Given the description of an element on the screen output the (x, y) to click on. 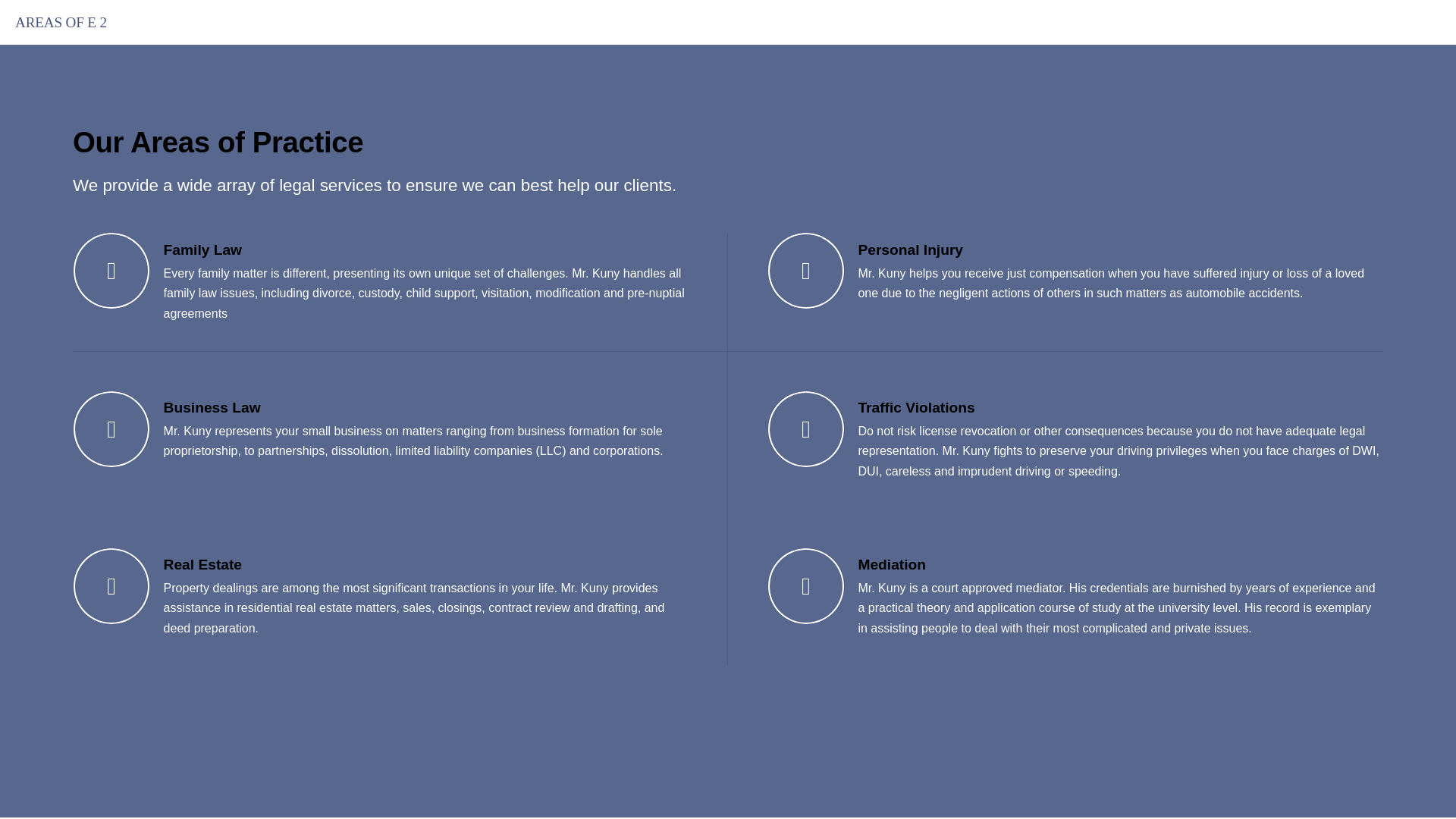
Real Estate (202, 564)
Personal Injury (909, 249)
Traffic Violations (915, 407)
Business Law (211, 407)
Mediation (891, 564)
Family Law (202, 249)
